Given the description of an element on the screen output the (x, y) to click on. 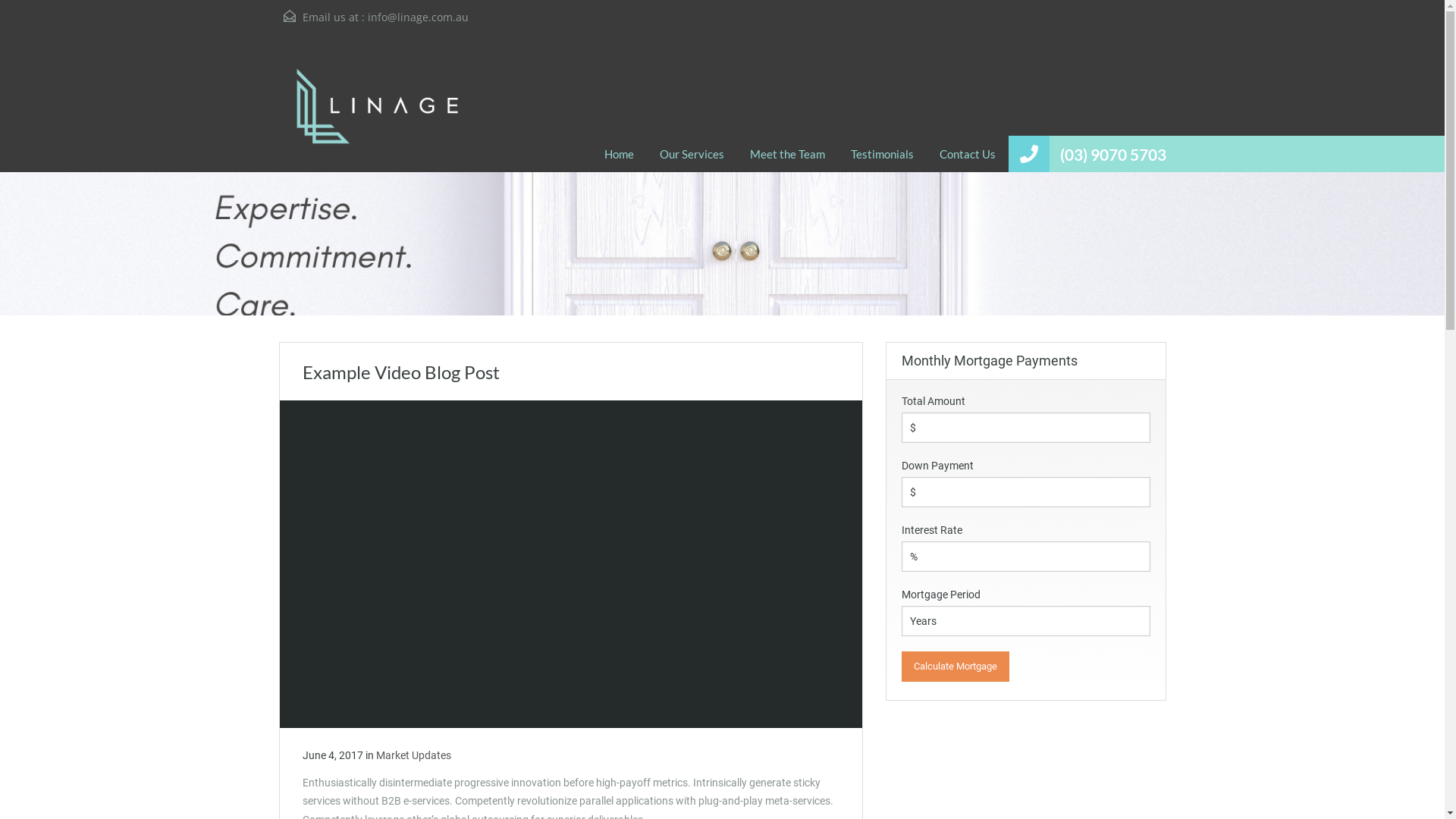
Meet the Team Element type: text (787, 153)
Our Services Element type: text (691, 153)
info@linage.com.au Element type: text (417, 16)
Market Updates Element type: text (413, 755)
(03) 9070 5703 Element type: text (1113, 154)
Calculate Mortgage Element type: text (954, 666)
Home Element type: text (618, 153)
Linage Property Management Element type: hover (377, 115)
Contact Us Element type: text (967, 153)
Testimonials Element type: text (881, 153)
